Given the description of an element on the screen output the (x, y) to click on. 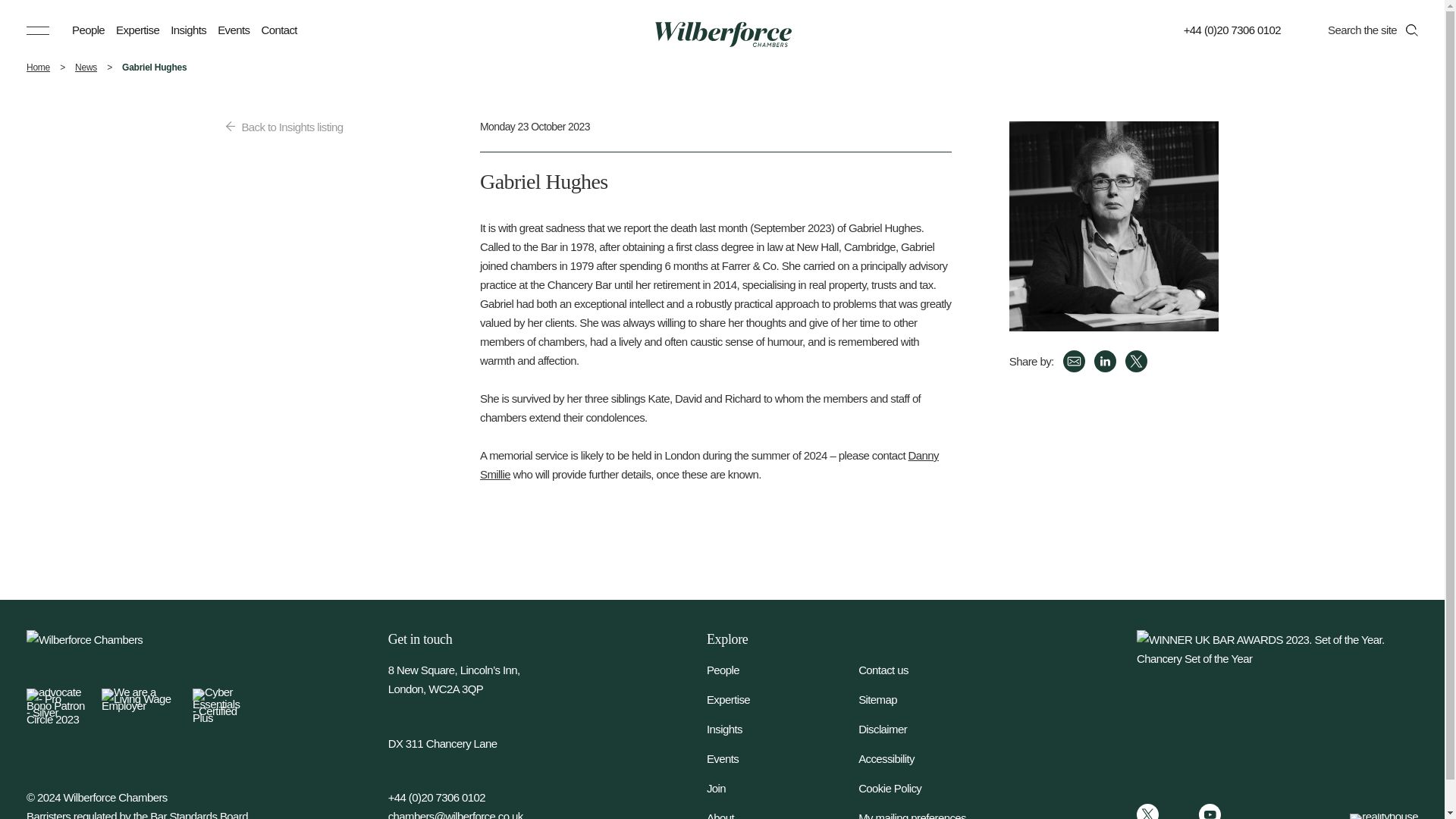
Insights (188, 29)
Contact (278, 29)
YouTube (1209, 811)
Sitemap (934, 699)
Contact us (934, 669)
Danny Smillie (709, 464)
Disclaimer (934, 729)
Expertise (782, 699)
About (782, 814)
LinkedIn (1178, 811)
